Given the description of an element on the screen output the (x, y) to click on. 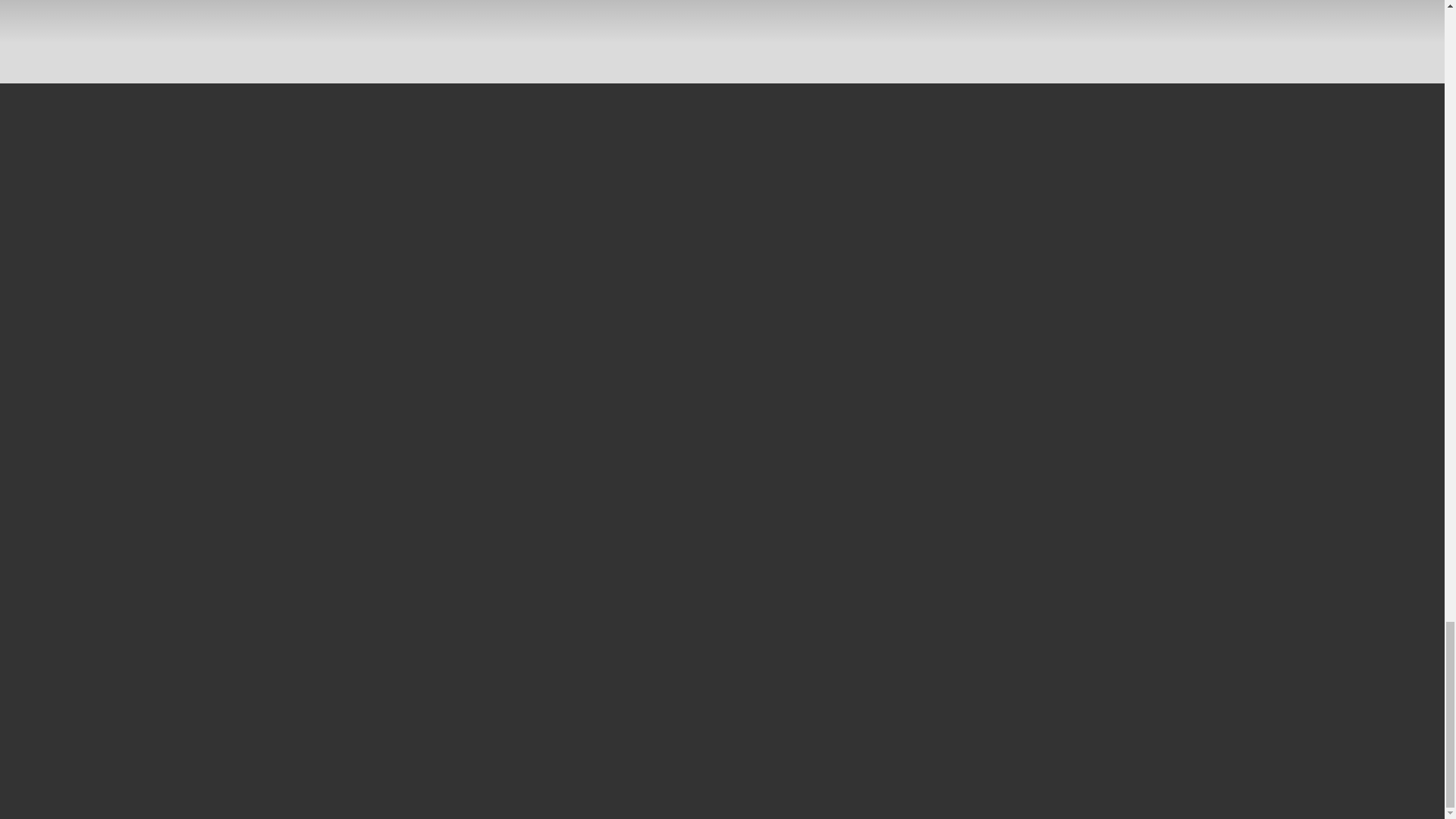
Send (905, 688)
